Given the description of an element on the screen output the (x, y) to click on. 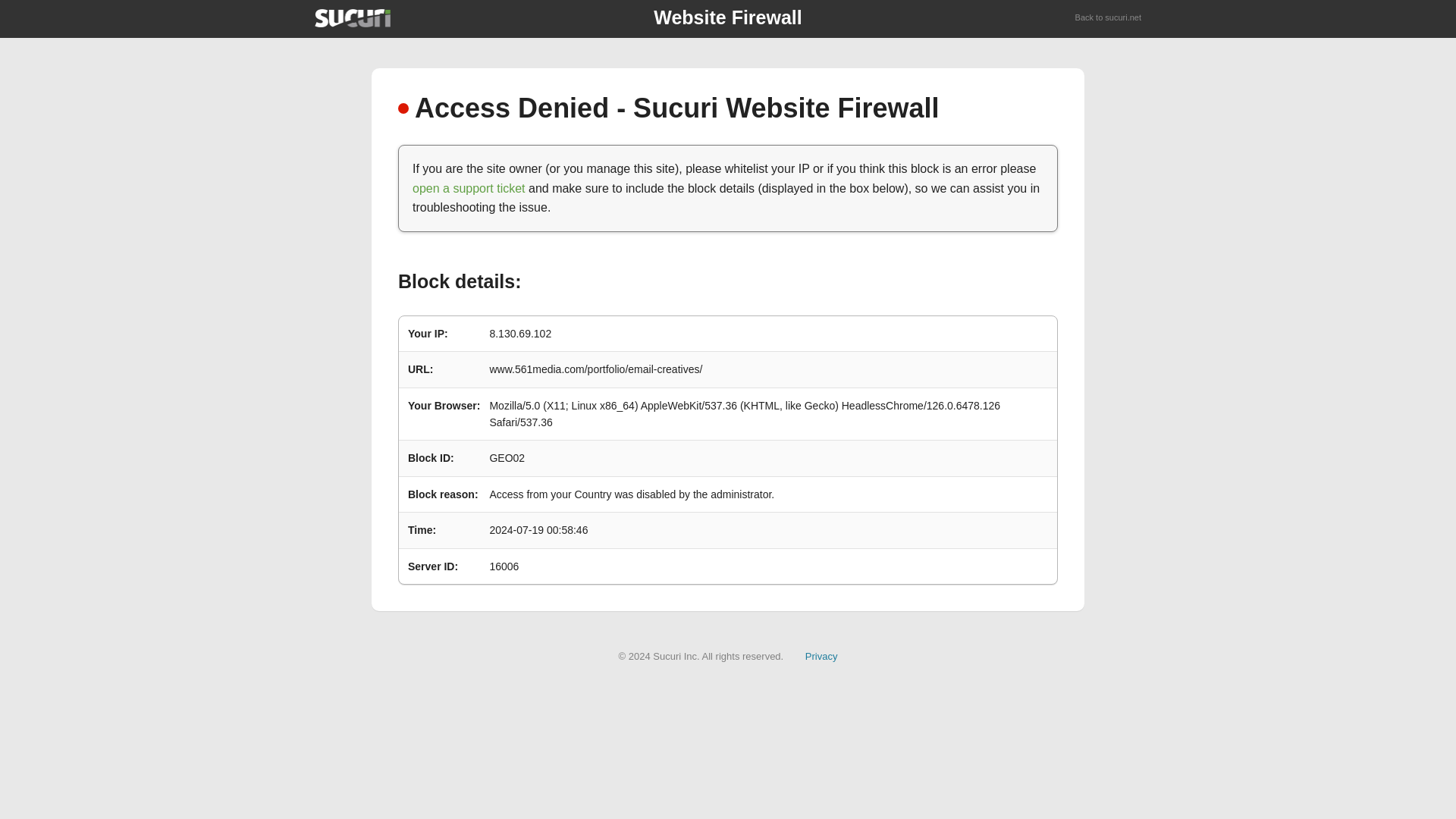
open a support ticket (468, 187)
Back to sucuri.net (1108, 18)
Privacy (821, 655)
